Given the description of an element on the screen output the (x, y) to click on. 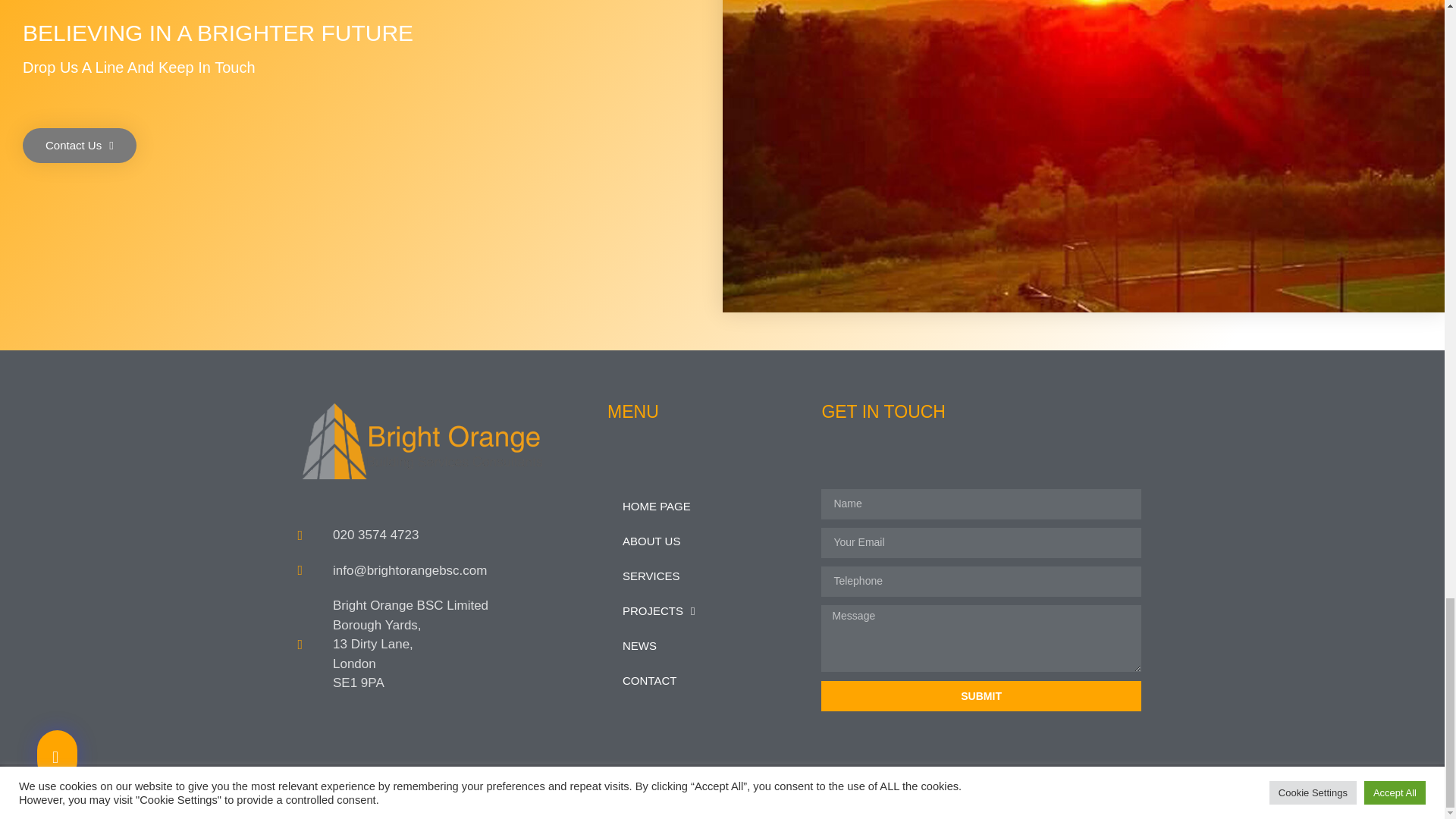
CONTACT (706, 680)
020 3574 4723 (444, 535)
NEWS (706, 645)
ABOUT US (706, 541)
Contact Us (79, 144)
PROJECTS (706, 610)
SERVICES (706, 575)
HOME PAGE (706, 506)
